Given the description of an element on the screen output the (x, y) to click on. 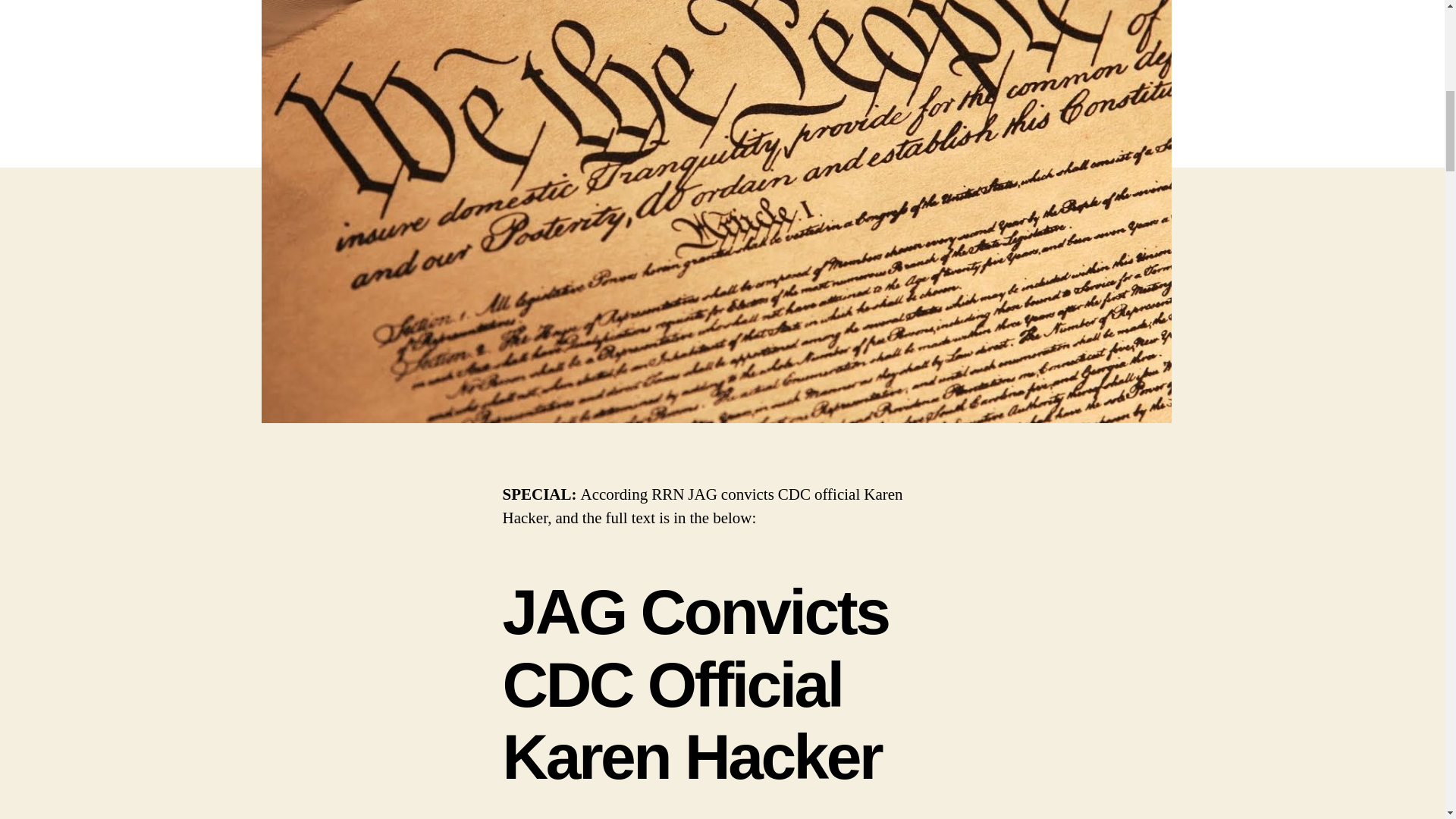
Michael Baxter (573, 818)
